Given the description of an element on the screen output the (x, y) to click on. 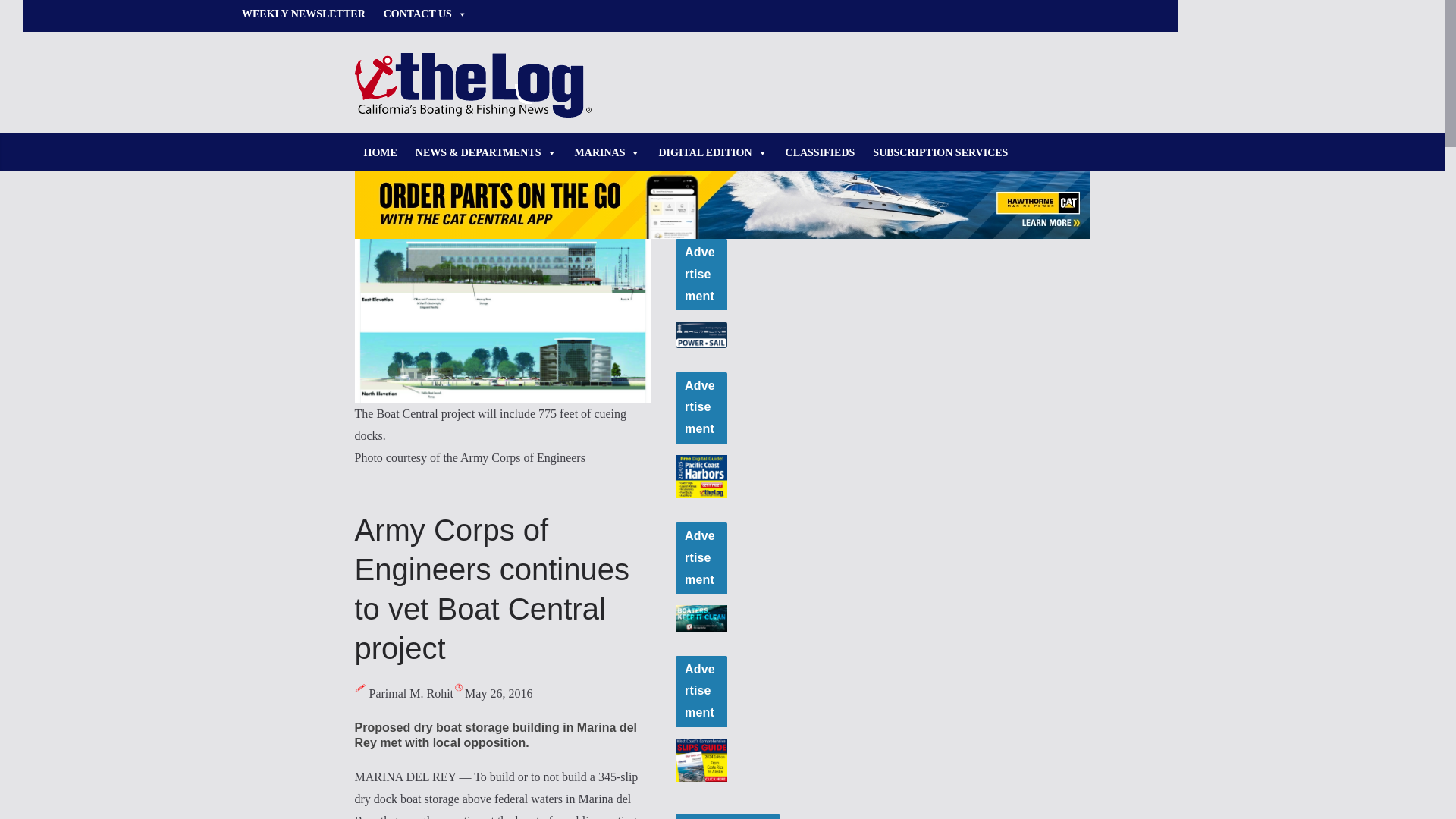
CLASSIFIEDS (820, 152)
MARINAS (607, 152)
CONTACT US (425, 15)
DIGITAL EDITION (712, 152)
WEEKLY NEWSLETTER (303, 15)
HOME (380, 152)
SUBSCRIPTION SERVICES (939, 152)
